Given the description of an element on the screen output the (x, y) to click on. 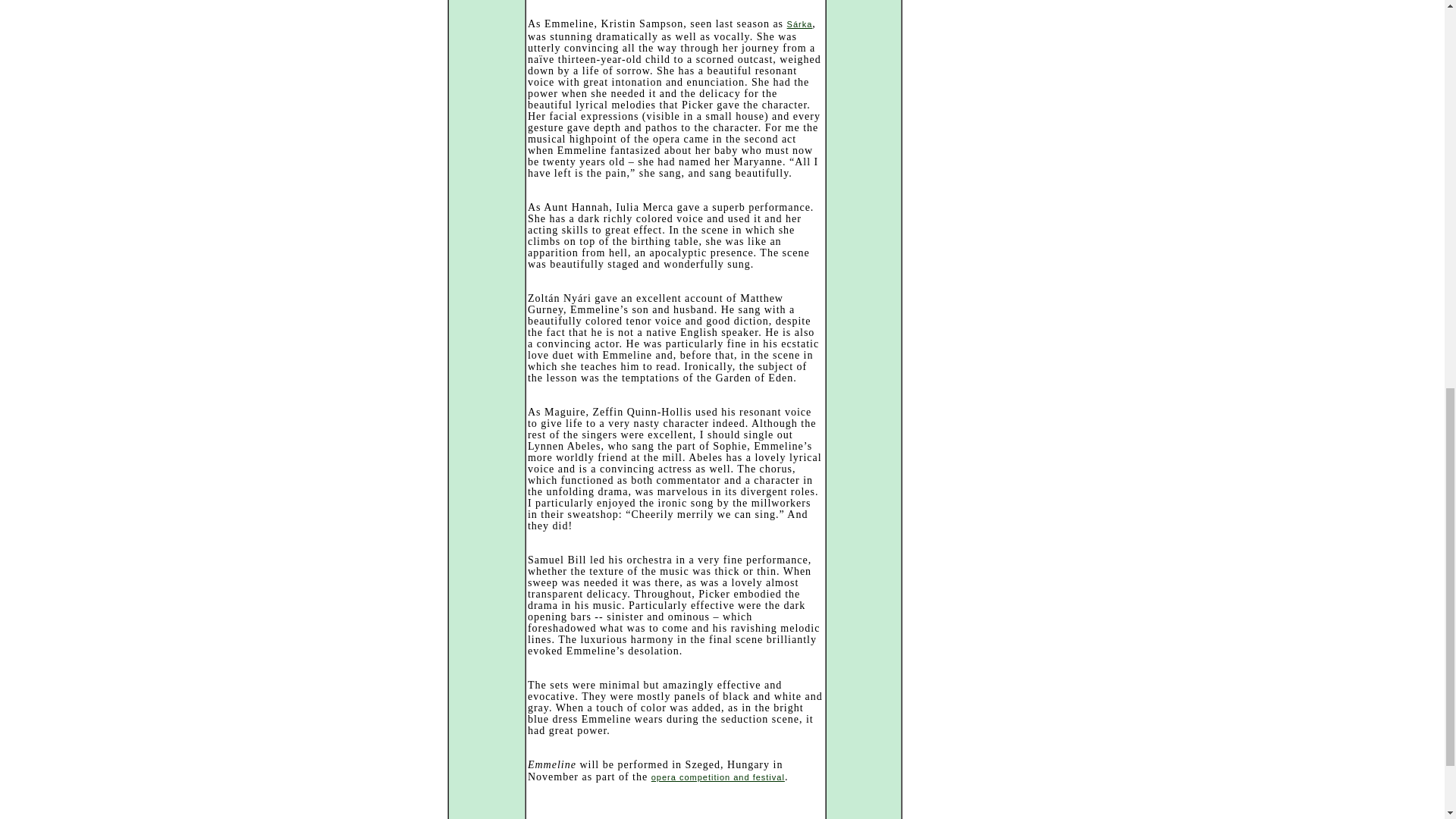
opera competition and festival (717, 777)
